Given the description of an element on the screen output the (x, y) to click on. 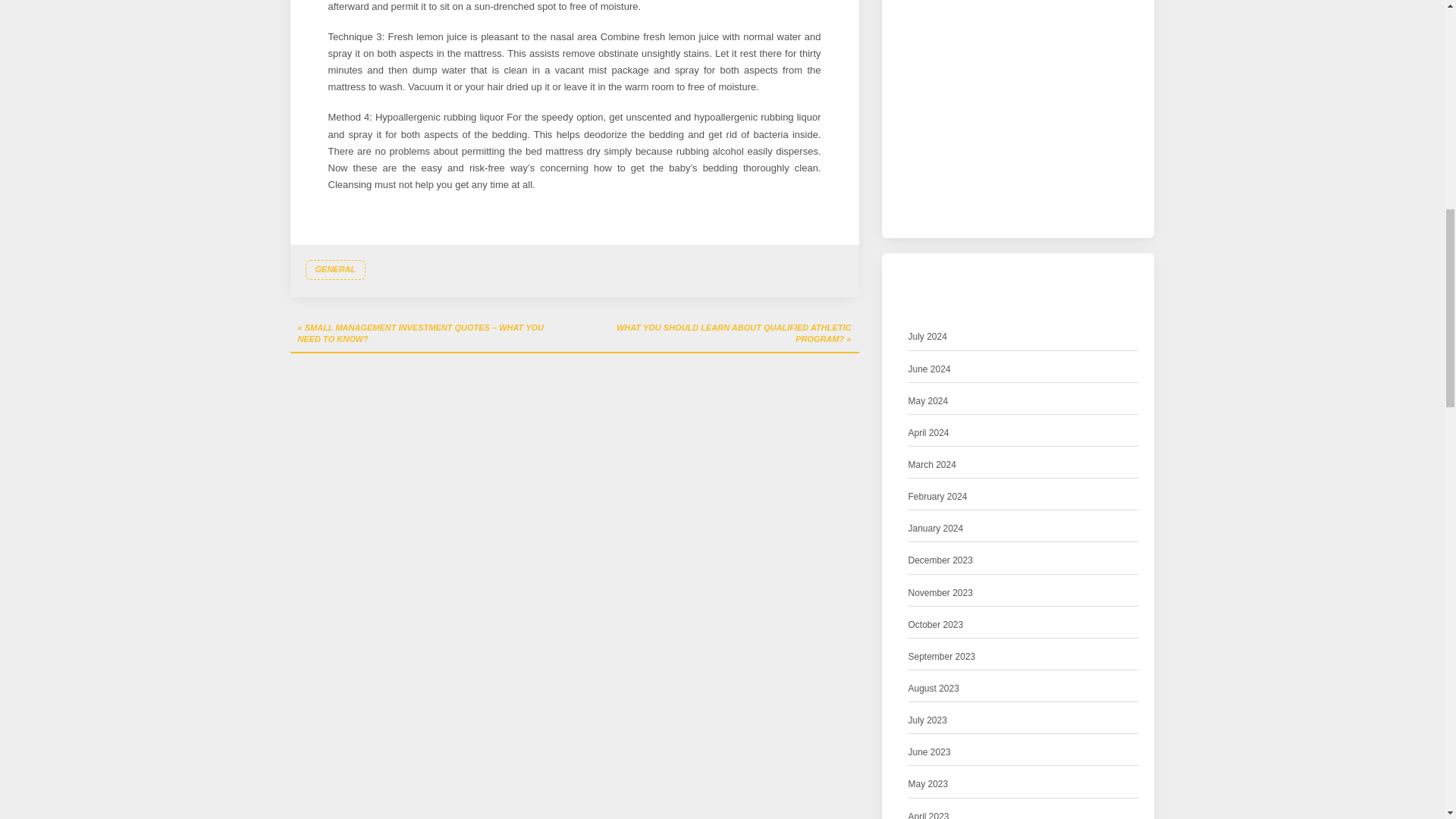
October 2023 (935, 625)
July 2024 (927, 336)
April 2023 (928, 814)
June 2023 (929, 752)
April 2024 (928, 433)
January 2024 (935, 528)
September 2023 (941, 657)
WHAT YOU SHOULD LEARN ABOUT QUALIFIED ATHLETIC PROGRAM? (717, 334)
December 2023 (940, 560)
May 2024 (928, 401)
